Given the description of an element on the screen output the (x, y) to click on. 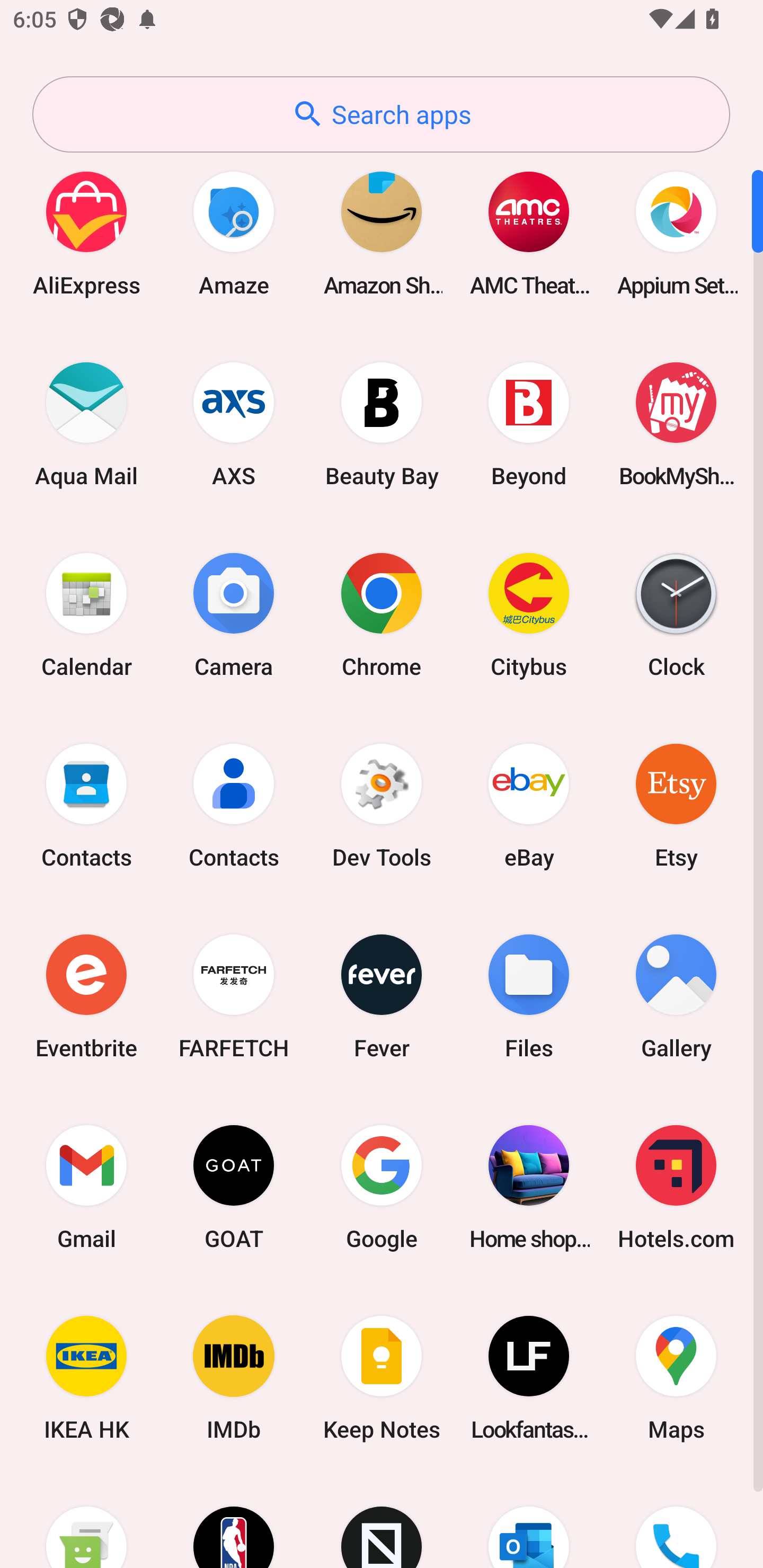
  Search apps (381, 114)
AliExpress (86, 233)
Amaze (233, 233)
Amazon Shopping (381, 233)
AMC Theatres (528, 233)
Appium Settings (676, 233)
Aqua Mail (86, 424)
AXS (233, 424)
Beauty Bay (381, 424)
Beyond (528, 424)
BookMyShow (676, 424)
Calendar (86, 614)
Camera (233, 614)
Chrome (381, 614)
Citybus (528, 614)
Clock (676, 614)
Contacts (86, 805)
Contacts (233, 805)
Dev Tools (381, 805)
eBay (528, 805)
Etsy (676, 805)
Eventbrite (86, 996)
FARFETCH (233, 996)
Fever (381, 996)
Files (528, 996)
Gallery (676, 996)
Gmail (86, 1186)
GOAT (233, 1186)
Google (381, 1186)
Home shopping (528, 1186)
Hotels.com (676, 1186)
IKEA HK (86, 1377)
IMDb (233, 1377)
Keep Notes (381, 1377)
Lookfantastic (528, 1377)
Maps (676, 1377)
